Given the description of an element on the screen output the (x, y) to click on. 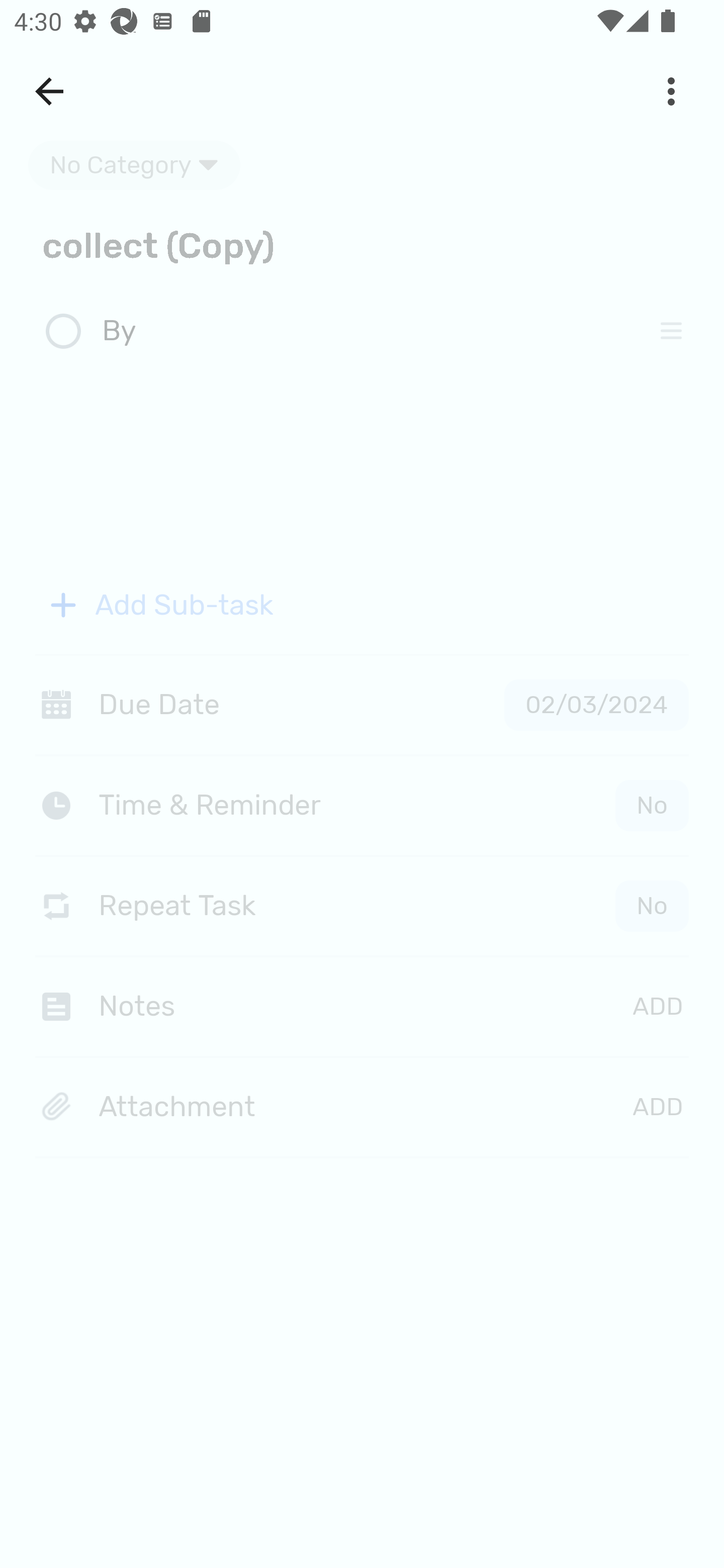
No Category (134, 165)
collect (Copy) (362, 244)
By (366, 331)
Add Sub-task (362, 604)
Due Date 02/03/2024 (362, 704)
Time & Reminder No (365, 804)
Repeat Task No (362, 905)
Notes ADD (362, 1006)
Attachment ADD (362, 1107)
